Given the description of an element on the screen output the (x, y) to click on. 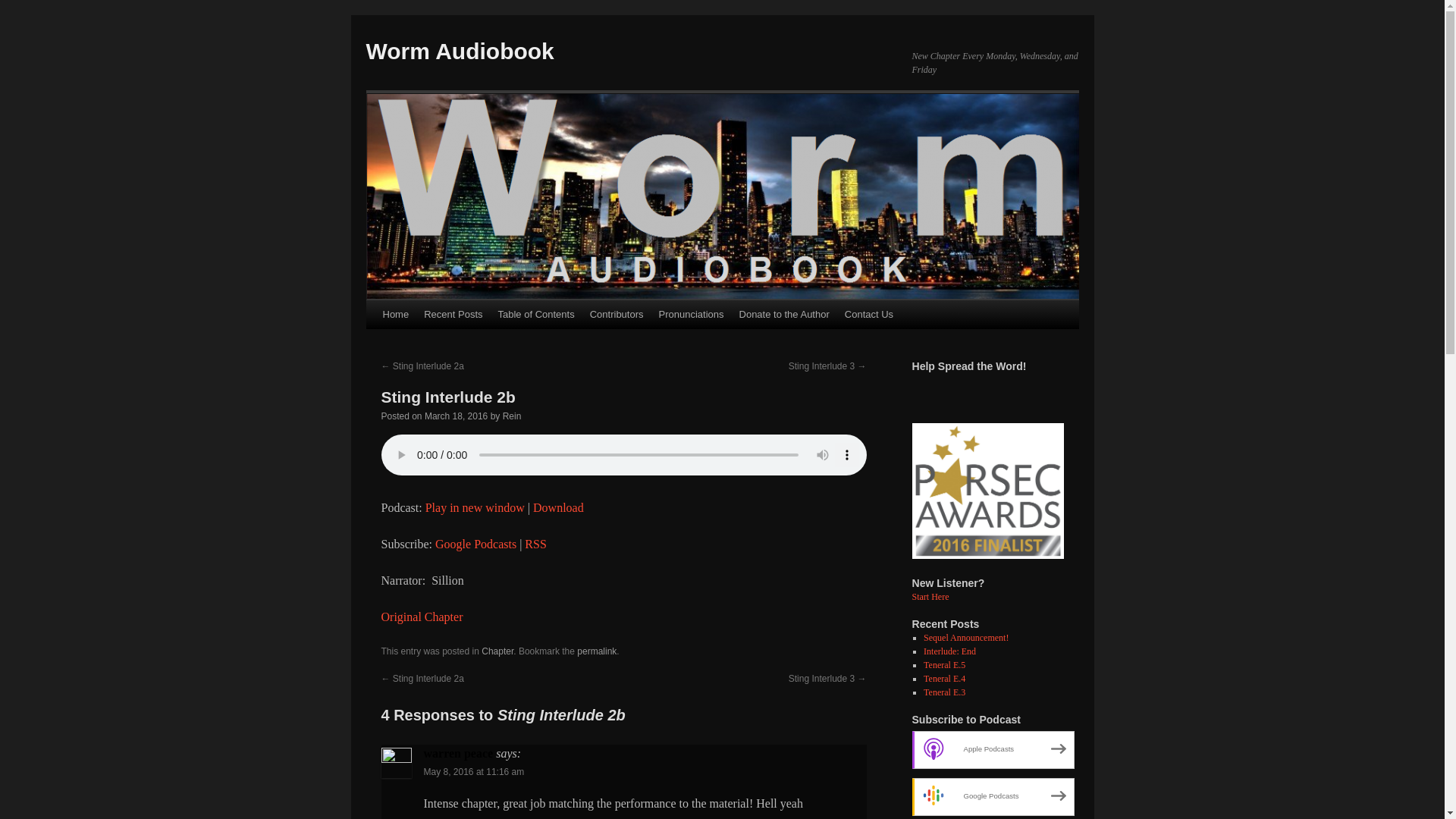
March 18, 2016 (456, 416)
Interlude: End (949, 651)
Teneral E.5 (944, 665)
Recent Posts (452, 314)
Subscribe via RSS (535, 543)
Teneral E.4 (944, 678)
Original Chapter (421, 616)
Start Here (930, 596)
Chapter (497, 651)
Subscribe on Google Podcasts (475, 543)
Play in new window (474, 507)
Google Podcasts (475, 543)
12:01 am (456, 416)
Donate to the Author (784, 314)
Download (557, 507)
